Given the description of an element on the screen output the (x, y) to click on. 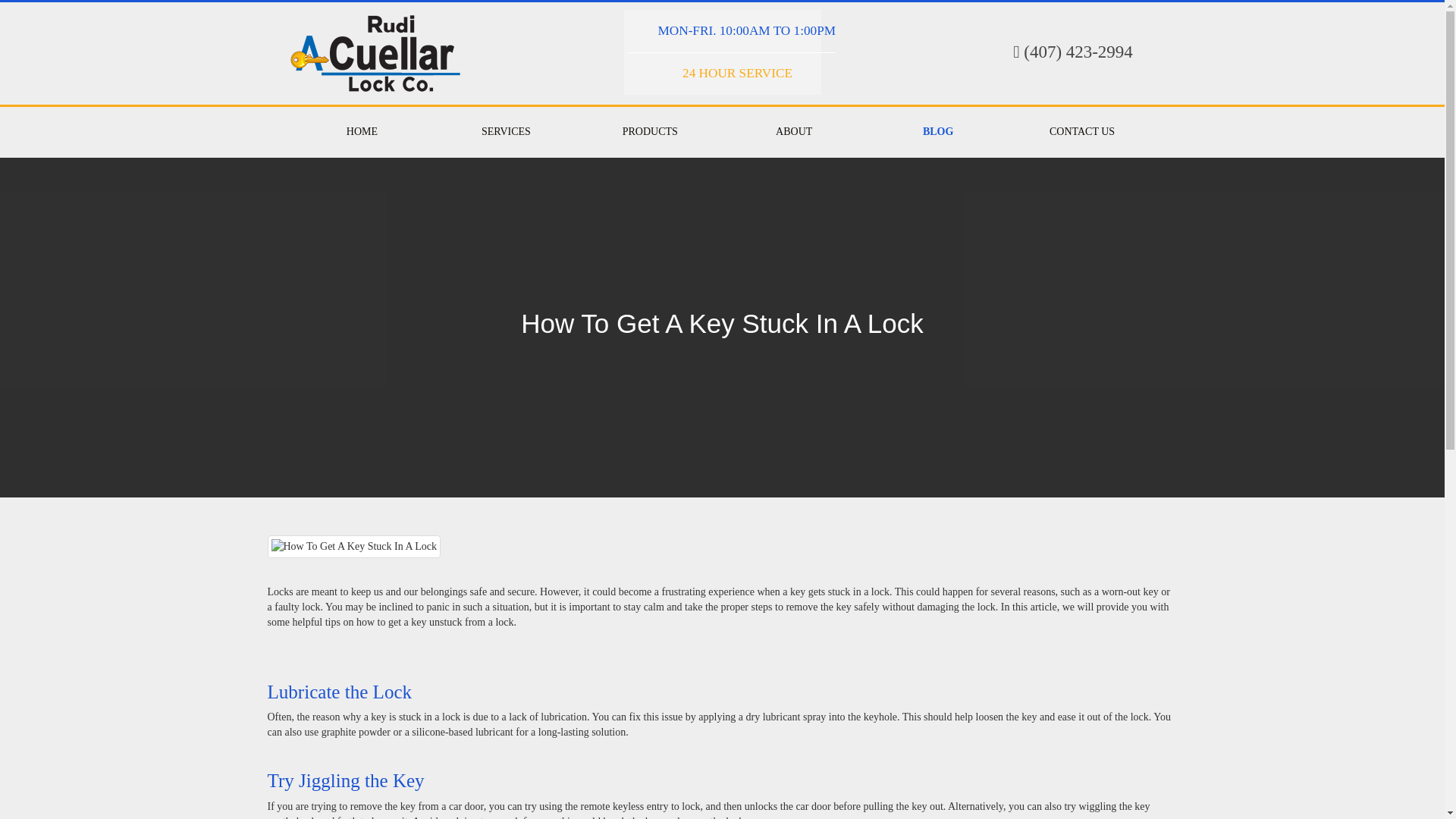
SERVICES (505, 132)
Products (650, 132)
HOME (361, 132)
BLOG (938, 132)
Home (361, 132)
Blog (938, 132)
ABOUT (794, 132)
PRODUCTS (650, 132)
Contact Us (1082, 132)
Services (505, 132)
